Given the description of an element on the screen output the (x, y) to click on. 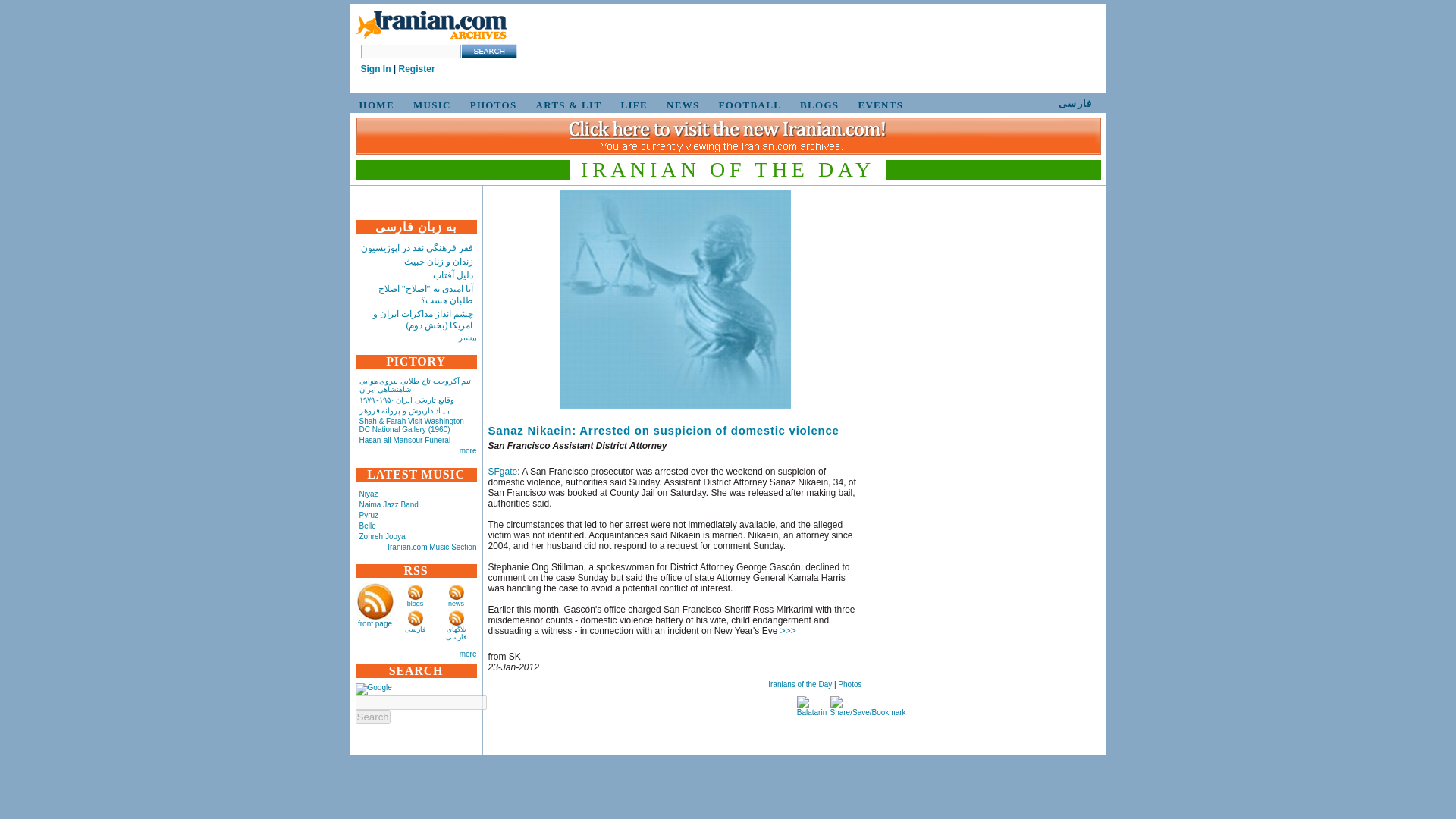
PHOTOS (491, 105)
Belle (367, 525)
blogs (415, 603)
Search (372, 716)
LIFE (631, 105)
Hasan-ali Mansour Funeral (405, 439)
news (456, 603)
Search this Site (488, 51)
Sign In (376, 68)
front page (374, 623)
Niyaz (368, 493)
Pyruz (368, 515)
Naima Jazz Band (389, 504)
Zohreh Jooya (382, 536)
NEWS (681, 105)
